Given the description of an element on the screen output the (x, y) to click on. 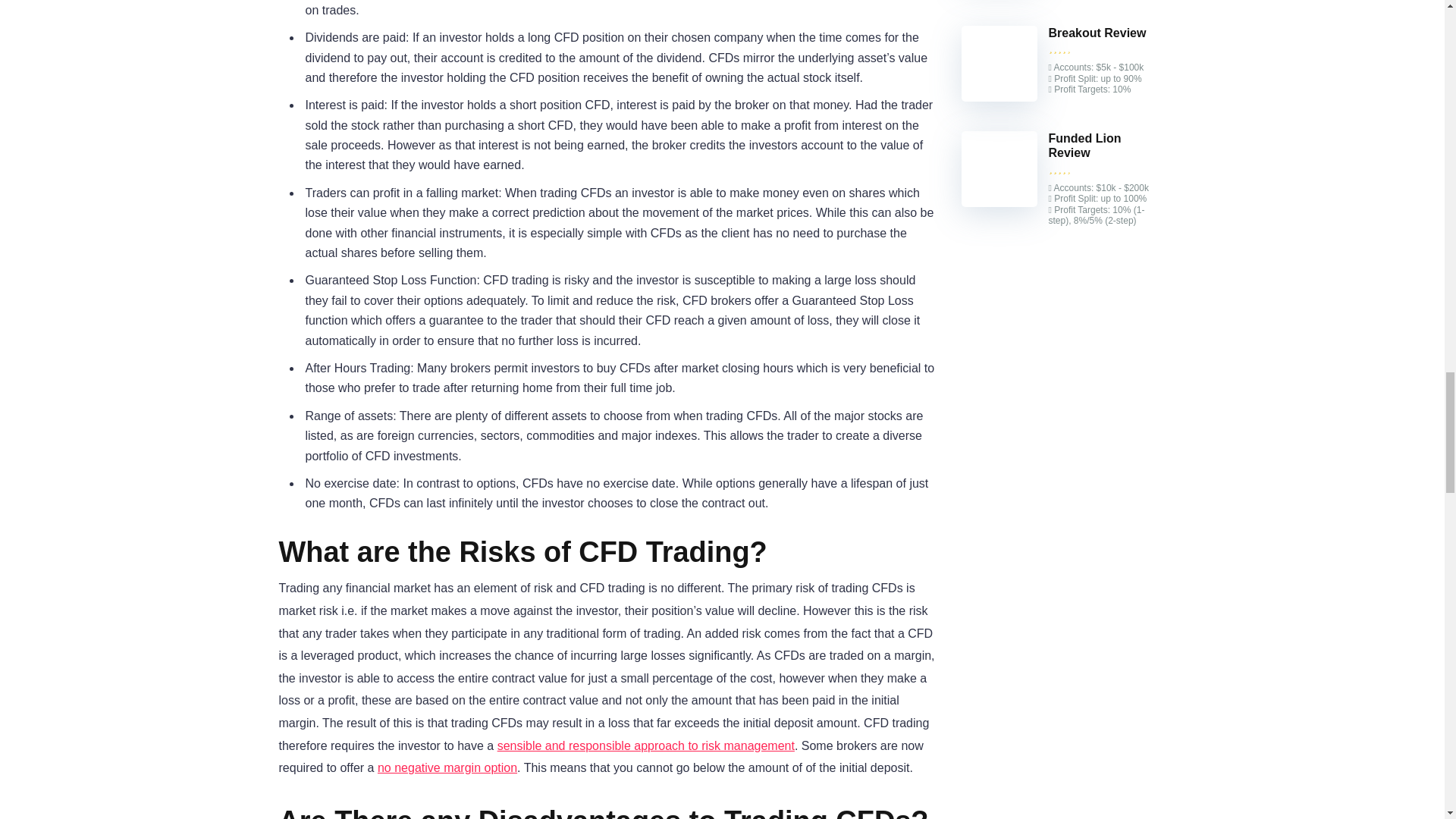
no negative margin option (446, 767)
sensible and responsible approach to risk management (645, 745)
